Given the description of an element on the screen output the (x, y) to click on. 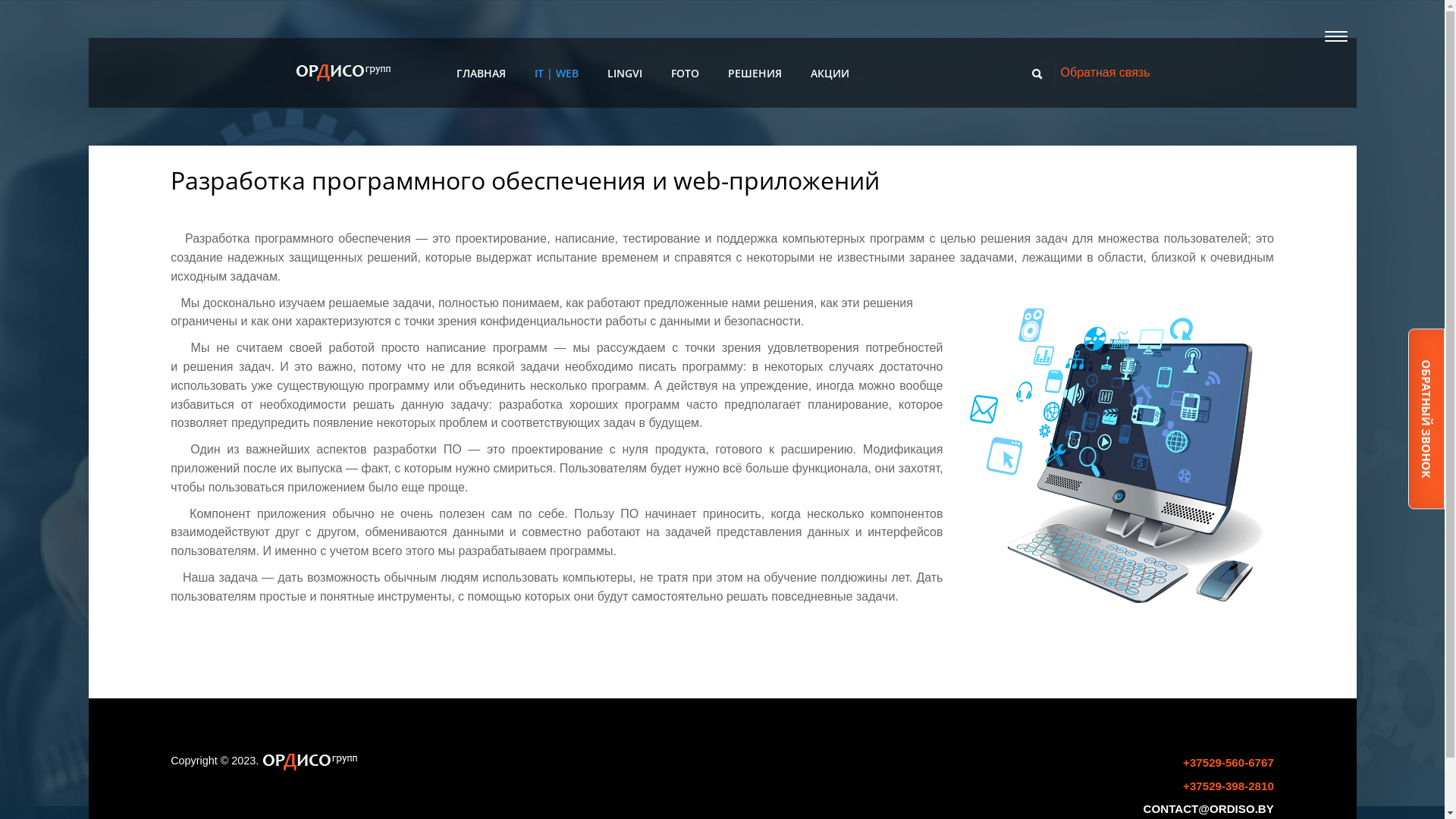
LINGVI Element type: text (624, 73)
FOTO Element type: text (685, 72)
FOTO Element type: text (685, 73)
IT | WEB Element type: text (556, 72)
IT | WEB Element type: text (556, 73)
LINGVI Element type: text (624, 72)
